Given the description of an element on the screen output the (x, y) to click on. 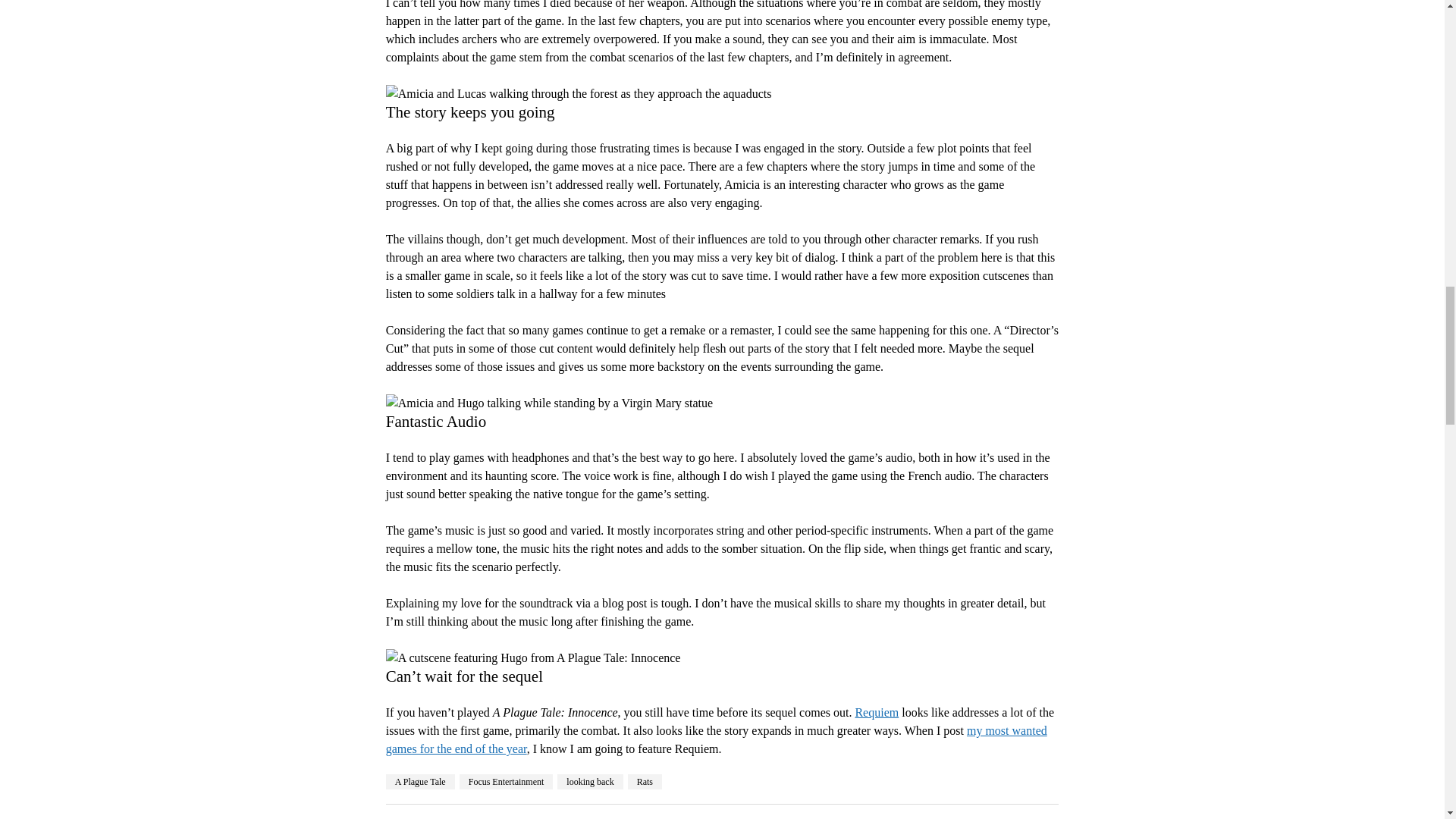
my most wanted games for the end of the year (715, 739)
my most wanted games for the end of the year (715, 739)
View all posts tagged Focus Entertainment (506, 781)
Requiem (876, 712)
View all posts tagged looking back (590, 781)
View all posts tagged Rats (644, 781)
View all posts tagged A Plague Tale (419, 781)
Focus Entertainment (506, 781)
Rats (644, 781)
A Plague Tale (419, 781)
